Given the description of an element on the screen output the (x, y) to click on. 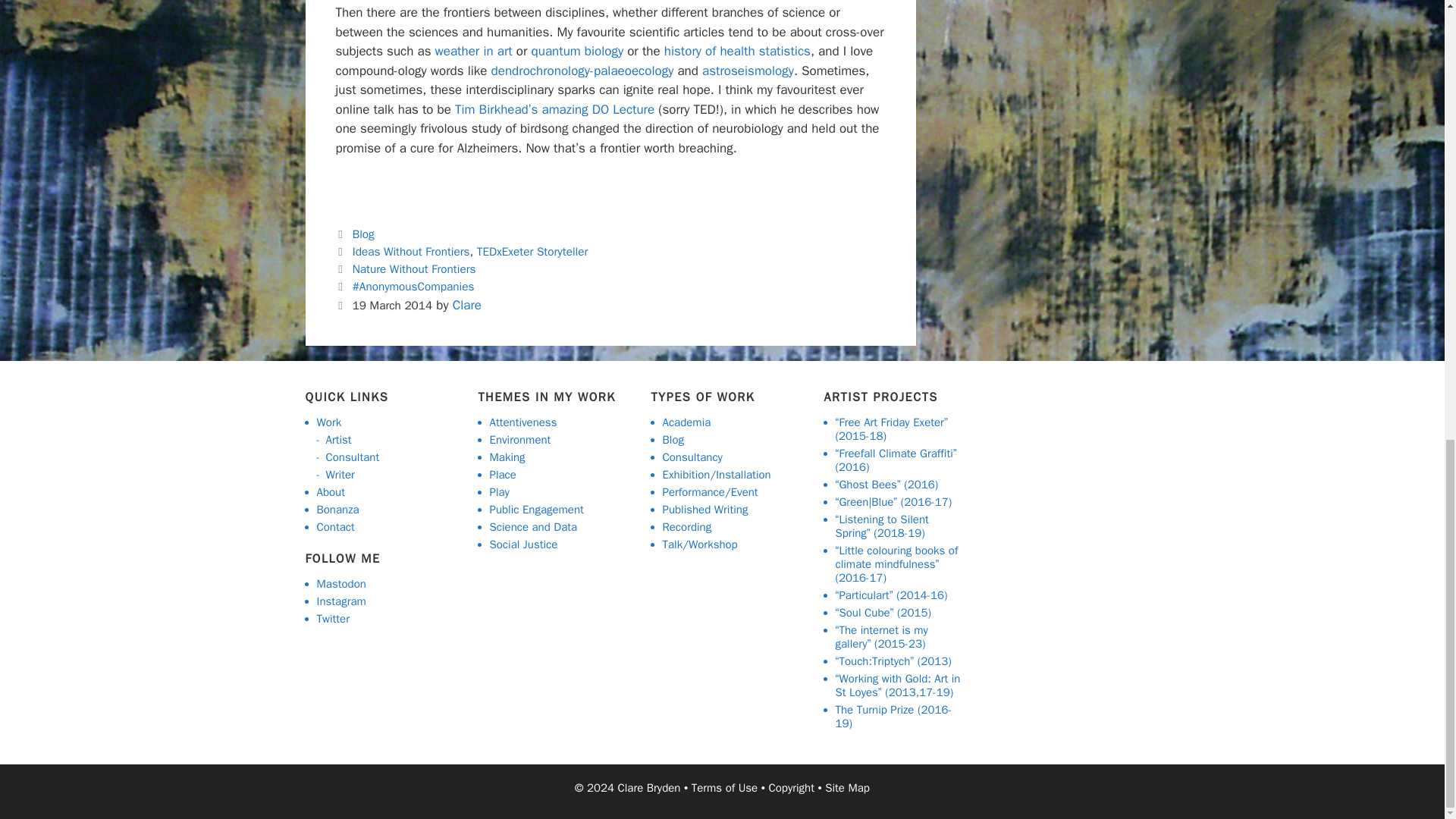
Ideas Without Frontiers (411, 251)
dendrochronology-palaeoecology (583, 70)
Blog (363, 233)
Nature Without Frontiers (414, 268)
astroseismology (747, 70)
View all posts by Clare (466, 304)
weather in art (473, 50)
quantum biology (577, 50)
Clare (466, 304)
history of health statistics (736, 50)
